Given the description of an element on the screen output the (x, y) to click on. 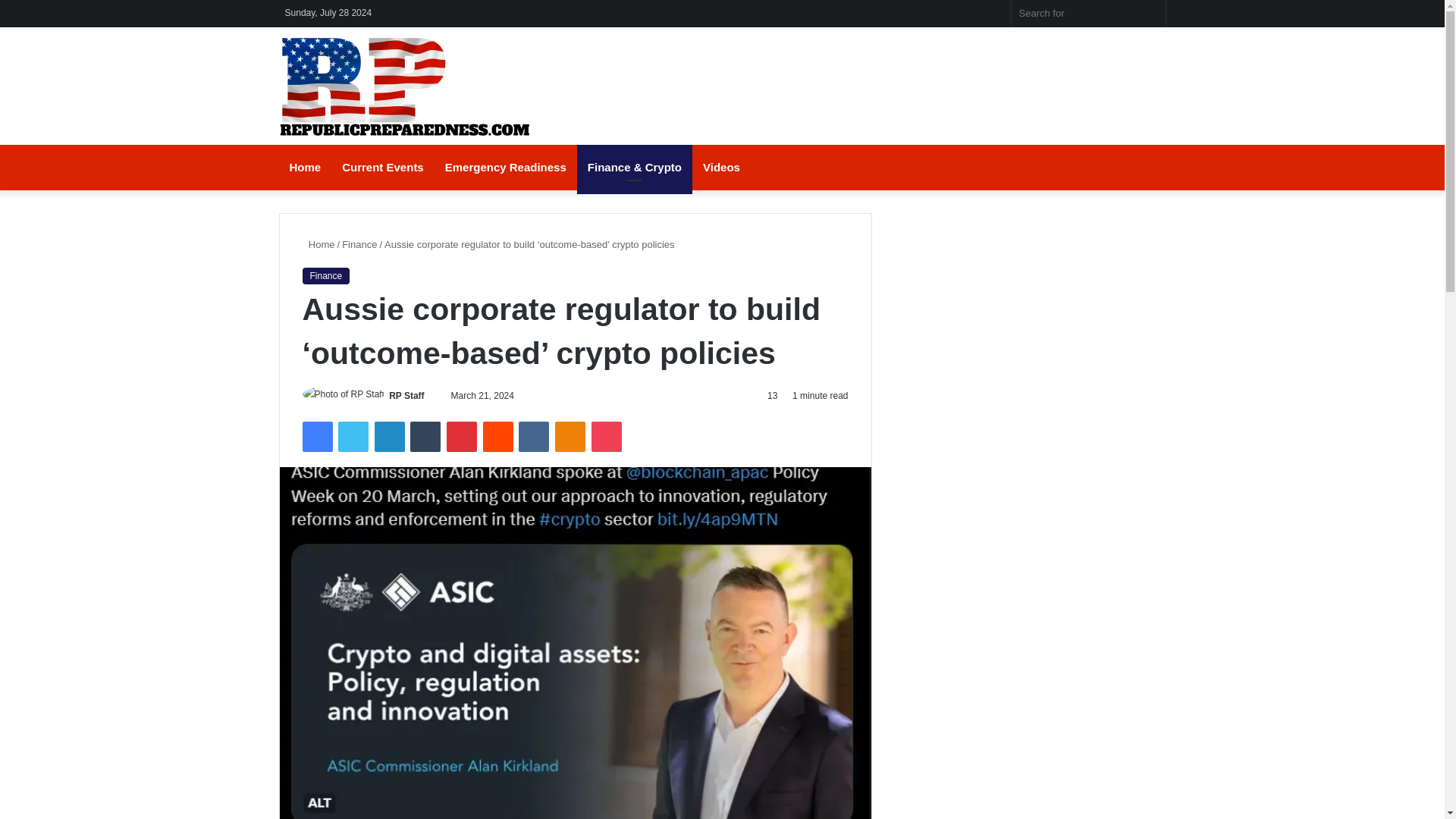
Current Events (382, 167)
Finance (359, 244)
Search for (1088, 13)
Emergency Readiness (504, 167)
Reddit (498, 436)
VKontakte (533, 436)
RP Staff (405, 395)
VKontakte (533, 436)
Facebook (316, 436)
Videos (722, 167)
Odnoklassniki (569, 436)
Twitter (352, 436)
Search for (1149, 13)
Twitter (352, 436)
Pinterest (461, 436)
